Given the description of an element on the screen output the (x, y) to click on. 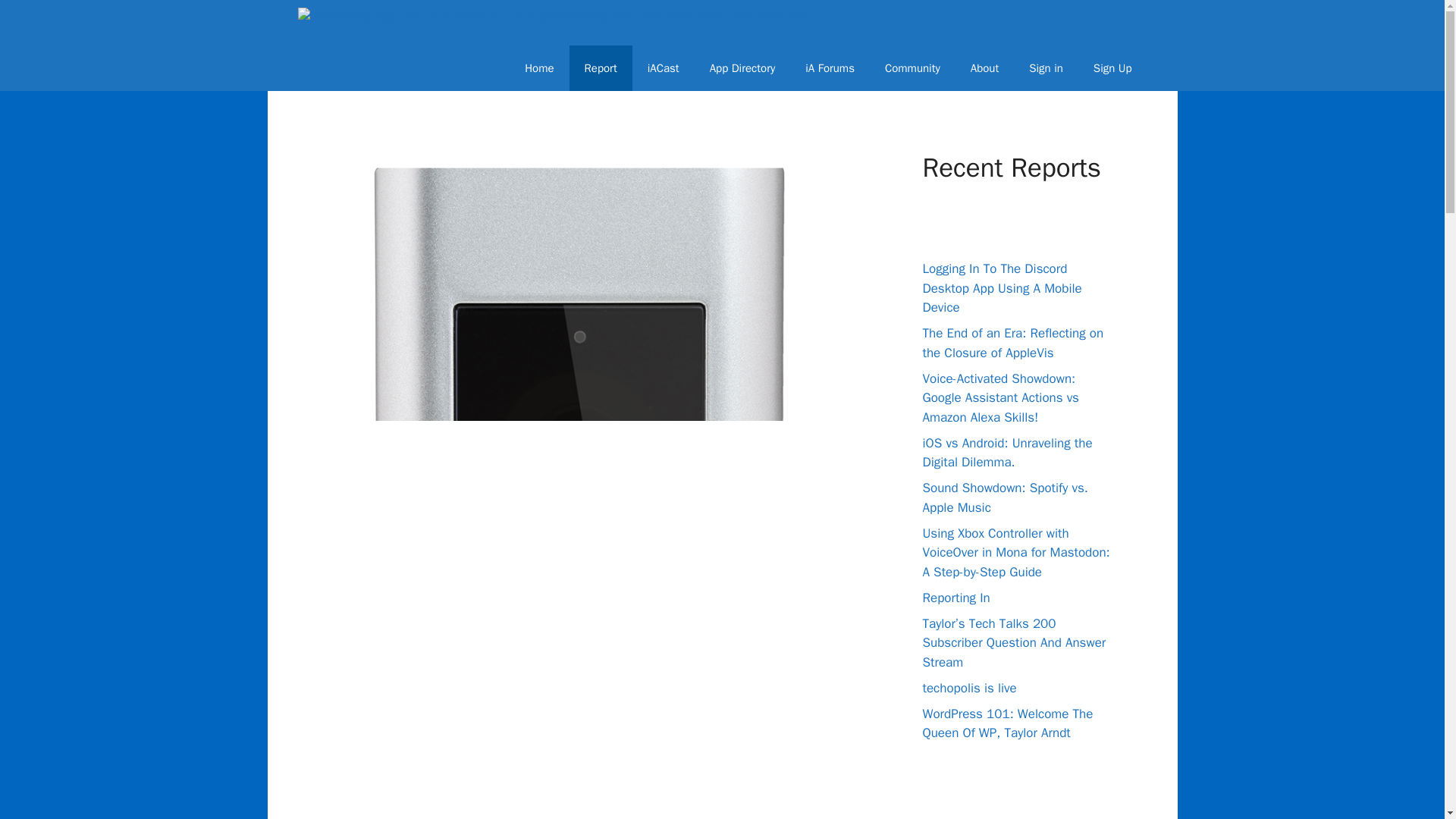
iA Forums (829, 67)
Report (600, 67)
iAccessibility (554, 22)
Sign in (1045, 67)
App Directory (742, 67)
About (984, 67)
Community (912, 67)
Home (539, 67)
Sign Up (1112, 67)
iACast (662, 67)
